Given the description of an element on the screen output the (x, y) to click on. 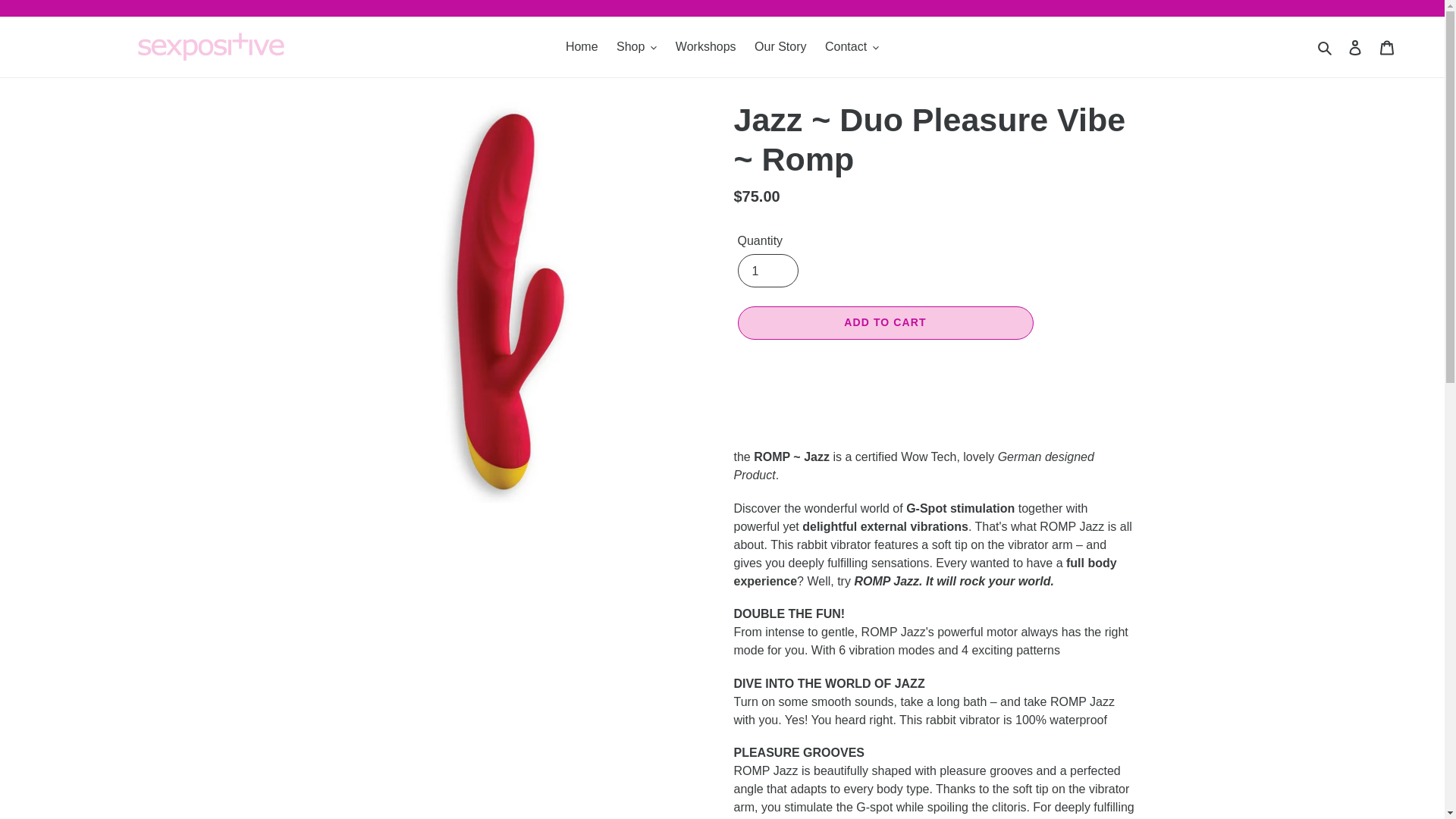
Search (1326, 46)
Home (581, 47)
Cart (1387, 46)
1 (766, 270)
My Account (1355, 46)
Log in (1355, 46)
Cart (1387, 46)
Our Story (779, 47)
Search (1326, 46)
Shop (635, 47)
Workshops (706, 47)
Contact (851, 47)
